Given the description of an element on the screen output the (x, y) to click on. 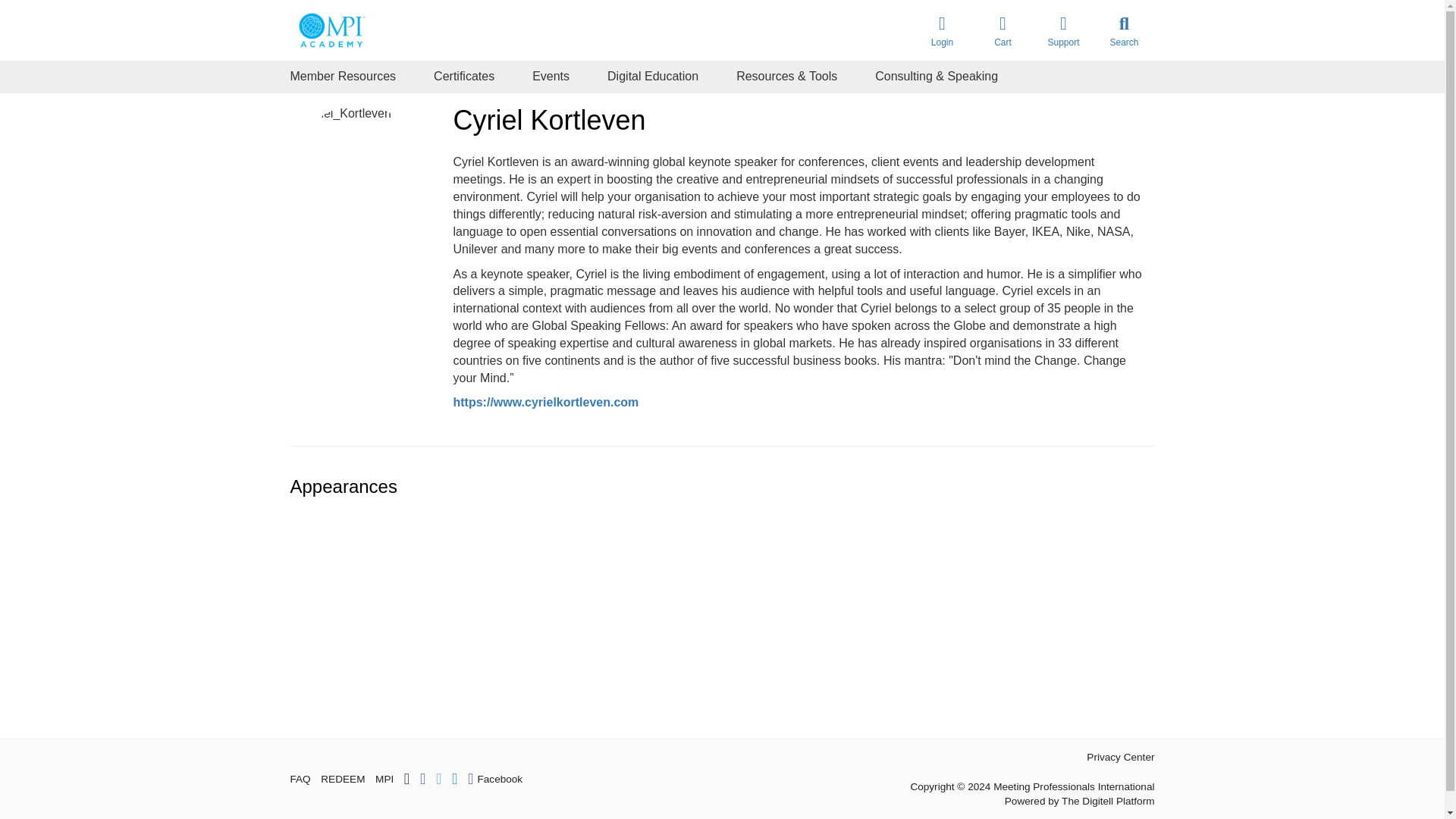
Support (1062, 30)
Privacy Center (1120, 756)
Cart (1002, 30)
REDEEM (342, 779)
FAQ (299, 779)
Facebook (494, 778)
Login (941, 30)
Search (1123, 30)
MPI (384, 779)
Support (1062, 30)
Cart (1002, 30)
Search (1123, 30)
MPI (384, 779)
Certificates (463, 76)
Facebook (494, 778)
